Given the description of an element on the screen output the (x, y) to click on. 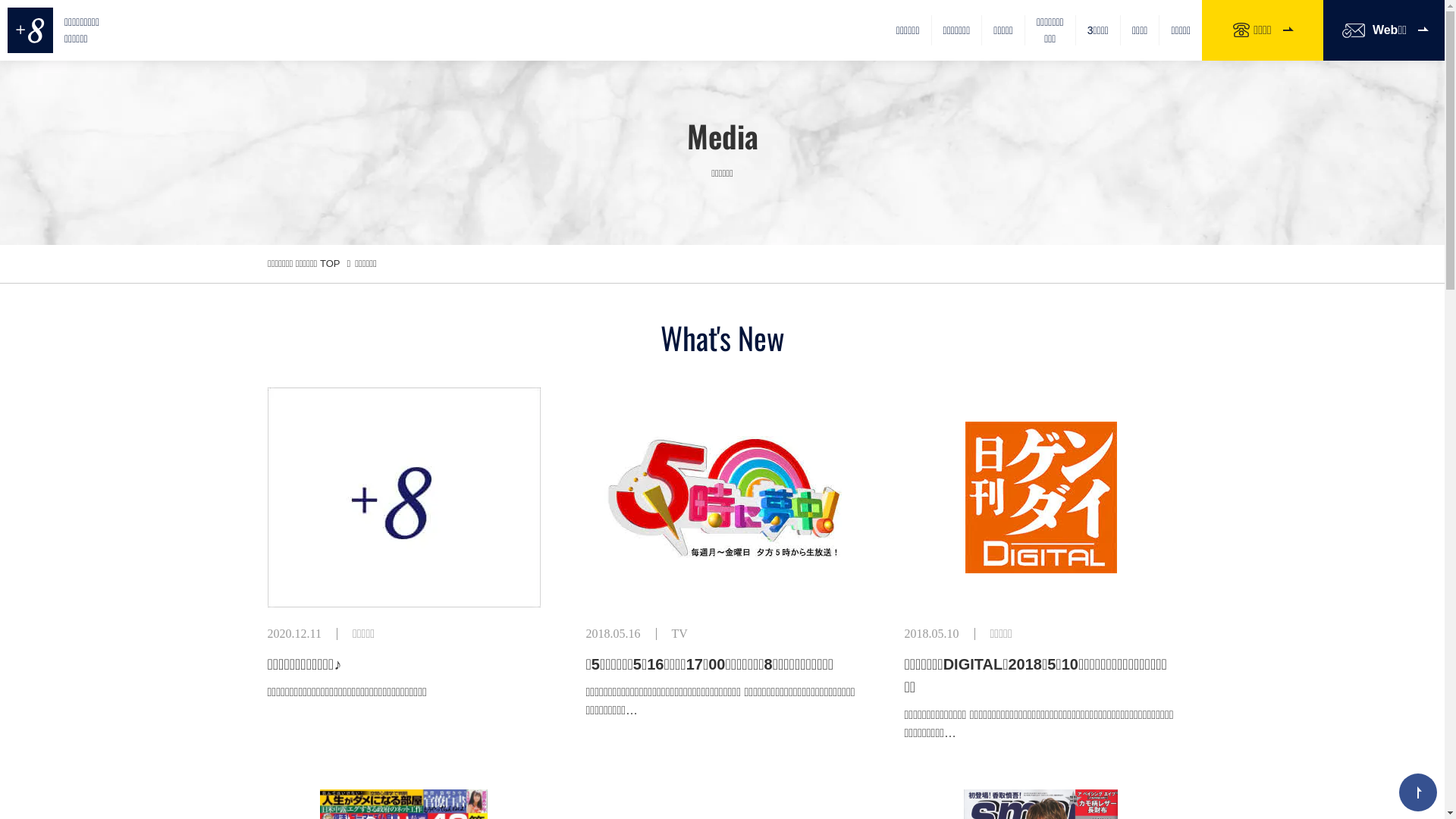
TV Element type: text (679, 633)
